Given the description of an element on the screen output the (x, y) to click on. 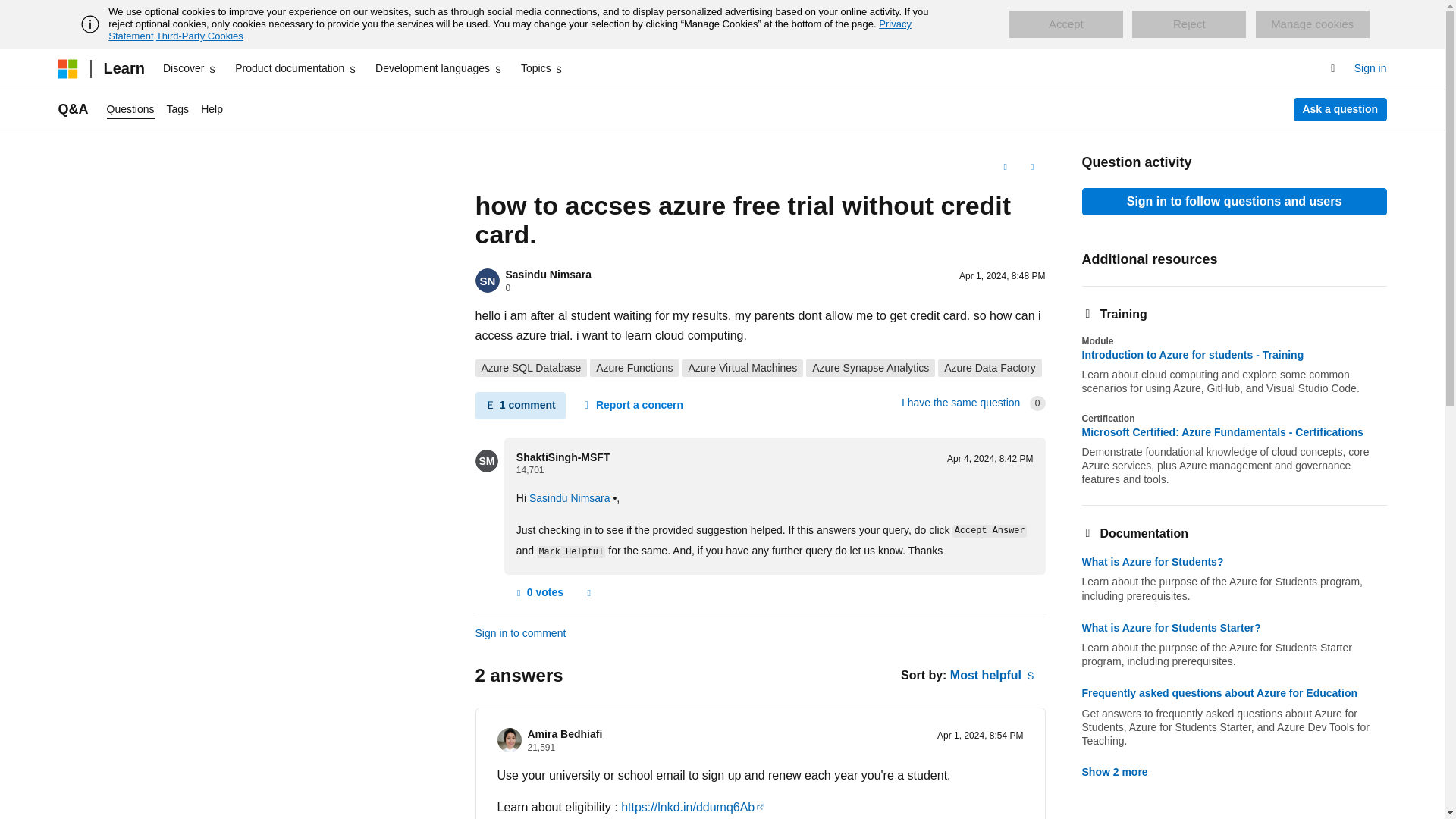
Ask a question (1340, 109)
Topics (542, 68)
Manage cookies (1312, 23)
Privacy Statement (509, 29)
Reputation points (541, 747)
Discover (189, 68)
This comment is helpful (538, 592)
Report a concern (632, 405)
Third-Party Cookies (199, 35)
Product documentation (295, 68)
